Given the description of an element on the screen output the (x, y) to click on. 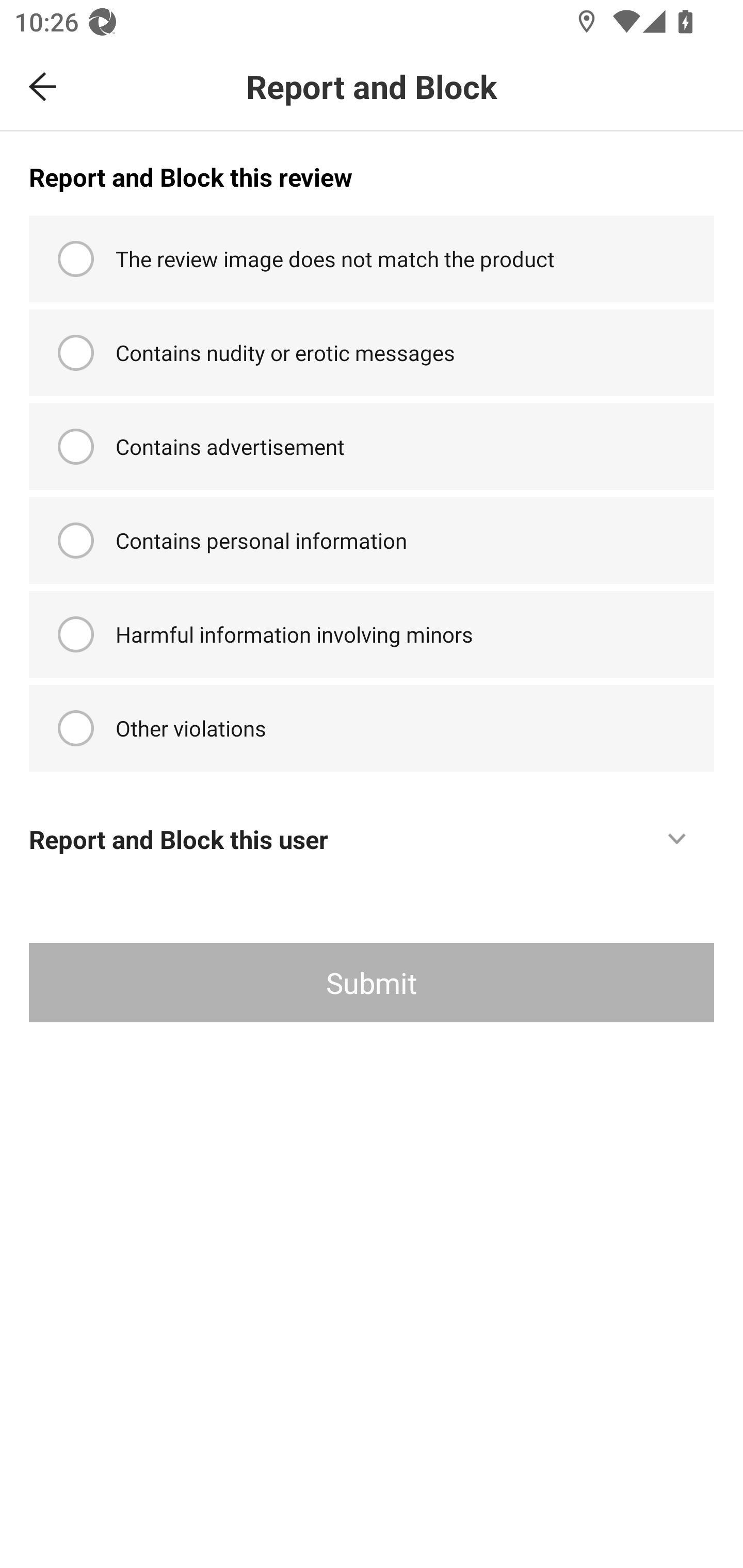
Navigate up (43, 86)
The review image does not match the product (371, 259)
Contains nudity or erotic messages (371, 352)
Contains advertisement (371, 445)
Contains personal information (371, 540)
Harmful information involving minors (371, 634)
Other violations (371, 728)
Report and Block this user (371, 828)
Submit (371, 982)
